Given the description of an element on the screen output the (x, y) to click on. 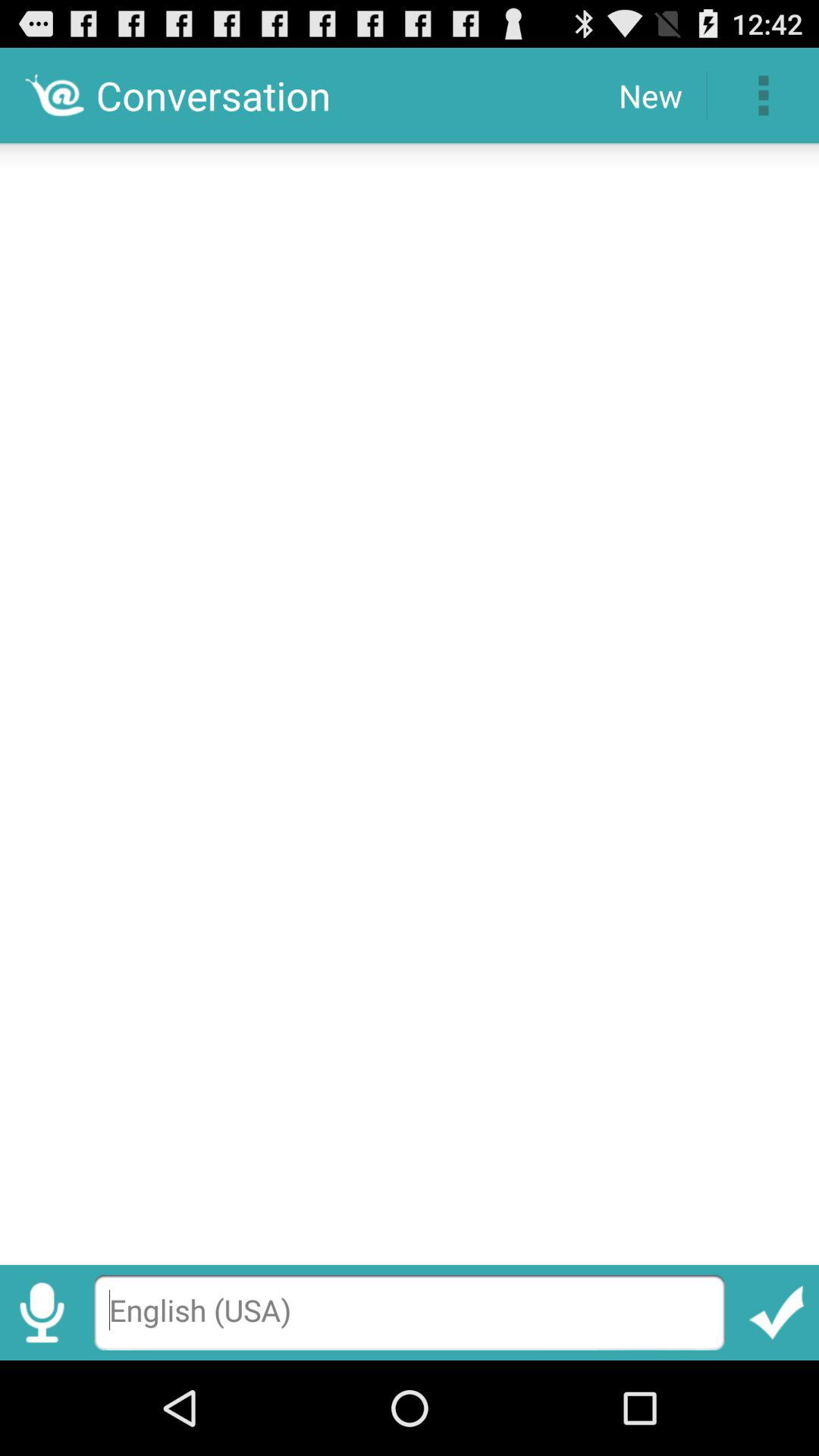
press icon to the right of new icon (763, 95)
